Given the description of an element on the screen output the (x, y) to click on. 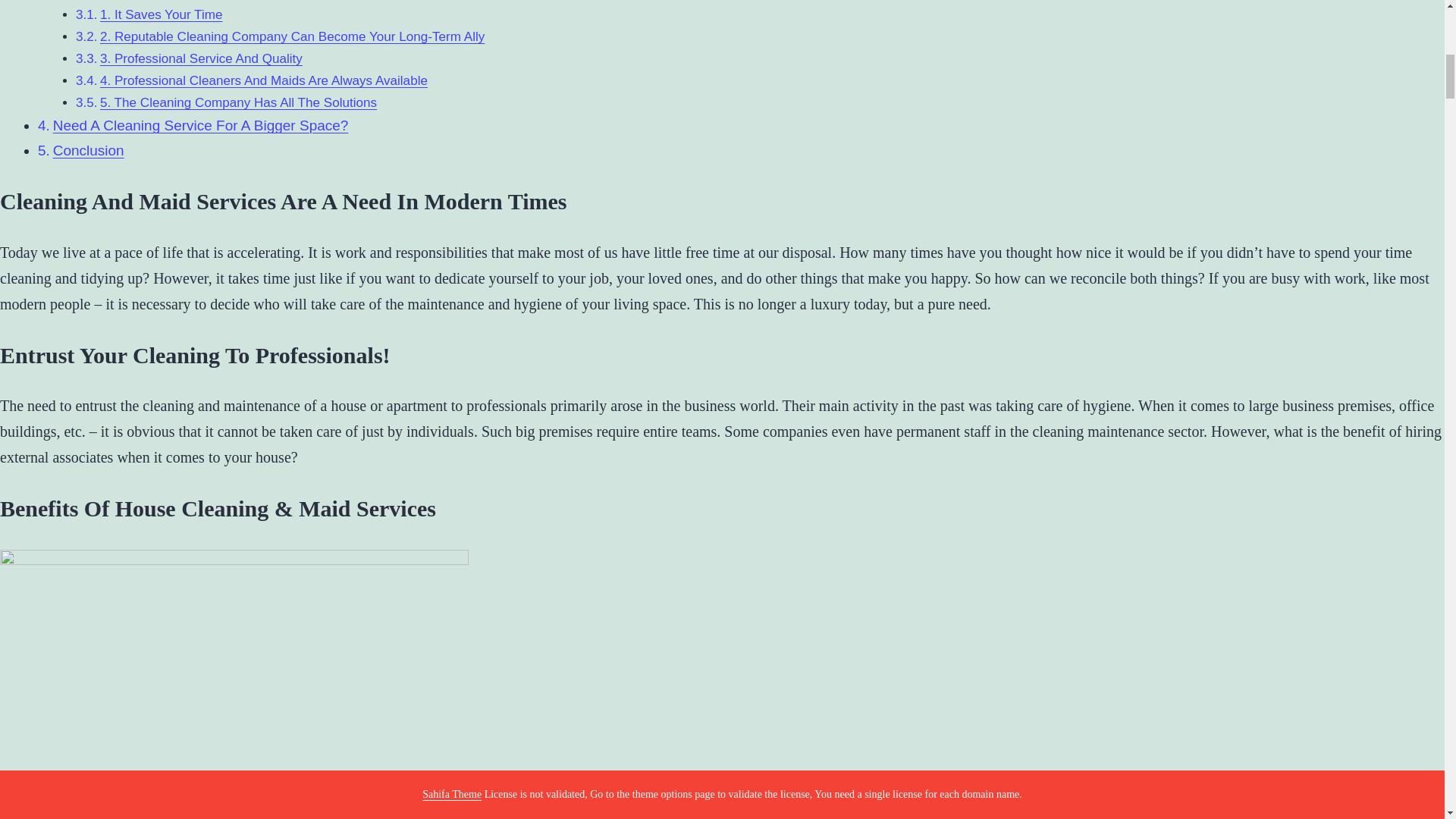
Need A Cleaning Service For A Bigger Space? (200, 125)
Conclusion (87, 150)
4. Professional Cleaners And Maids Are Always Available (264, 80)
3. Professional Service And Quality (201, 58)
Need A Cleaning Service For A Bigger Space? (200, 125)
1. It Saves Your Time (161, 14)
Conclusion (87, 150)
5. The Cleaning Company Has All The Solutions (238, 102)
4. Professional Cleaners And Maids Are Always Available (264, 80)
2. Reputable Cleaning Company Can Become Your Long-Term Ally (292, 36)
